Given the description of an element on the screen output the (x, y) to click on. 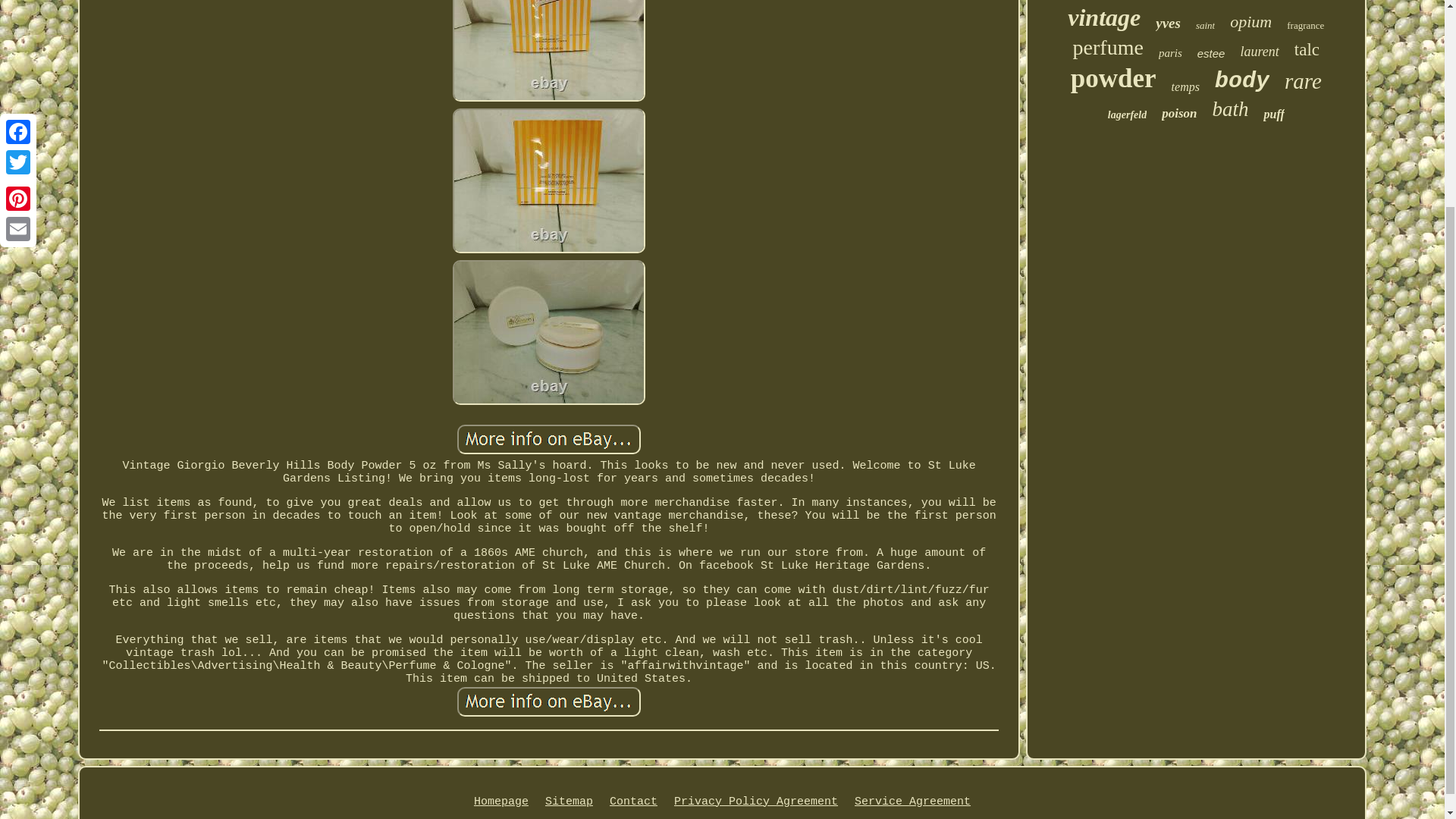
perfume (1107, 47)
opium (1250, 21)
fragrance (1305, 25)
saint (1204, 25)
talc (1306, 49)
yves (1168, 23)
laurent (1259, 51)
